Given the description of an element on the screen output the (x, y) to click on. 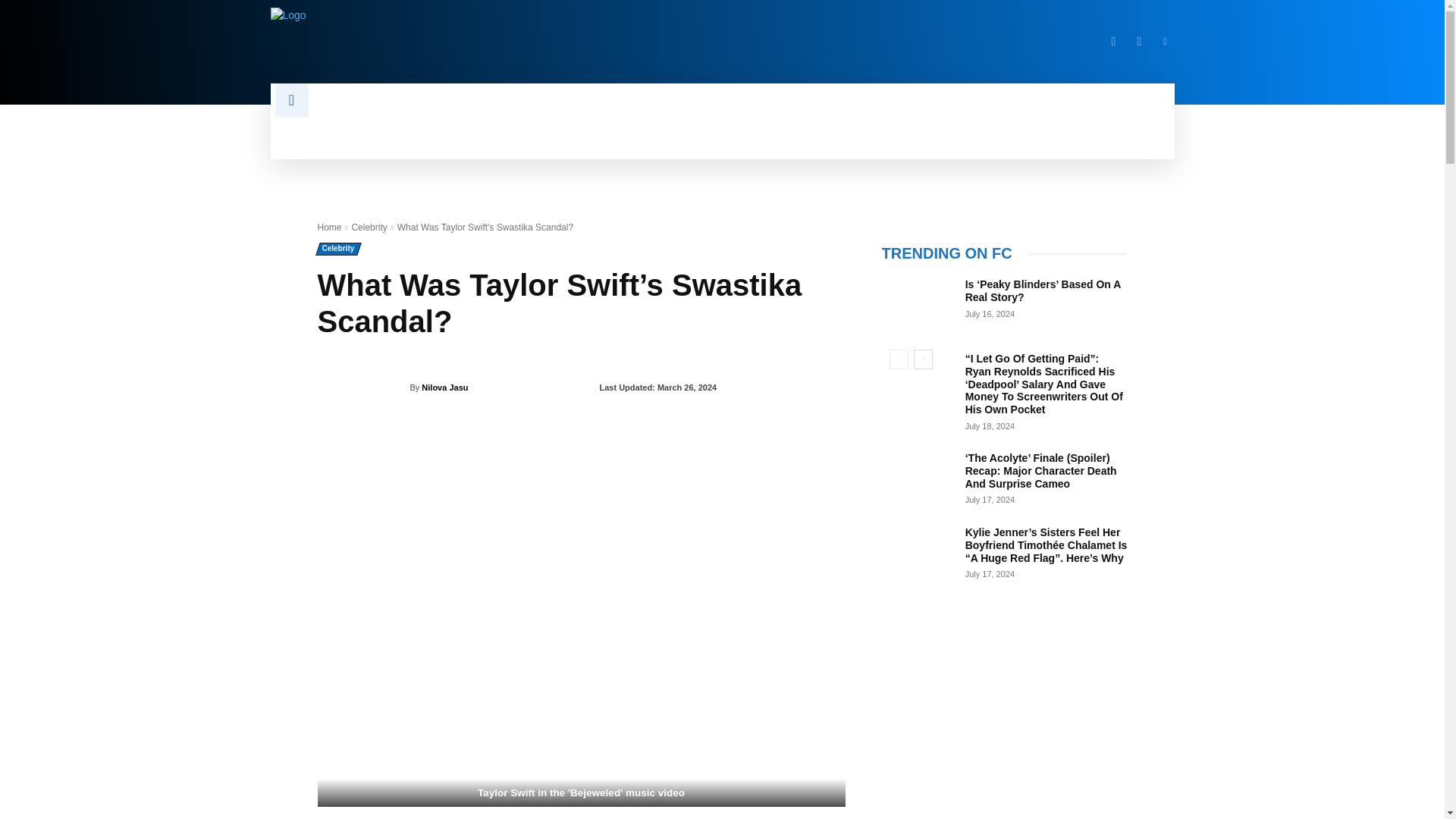
Facebook (1112, 41)
Linkedin (1164, 41)
Twitter (1138, 41)
